Given the description of an element on the screen output the (x, y) to click on. 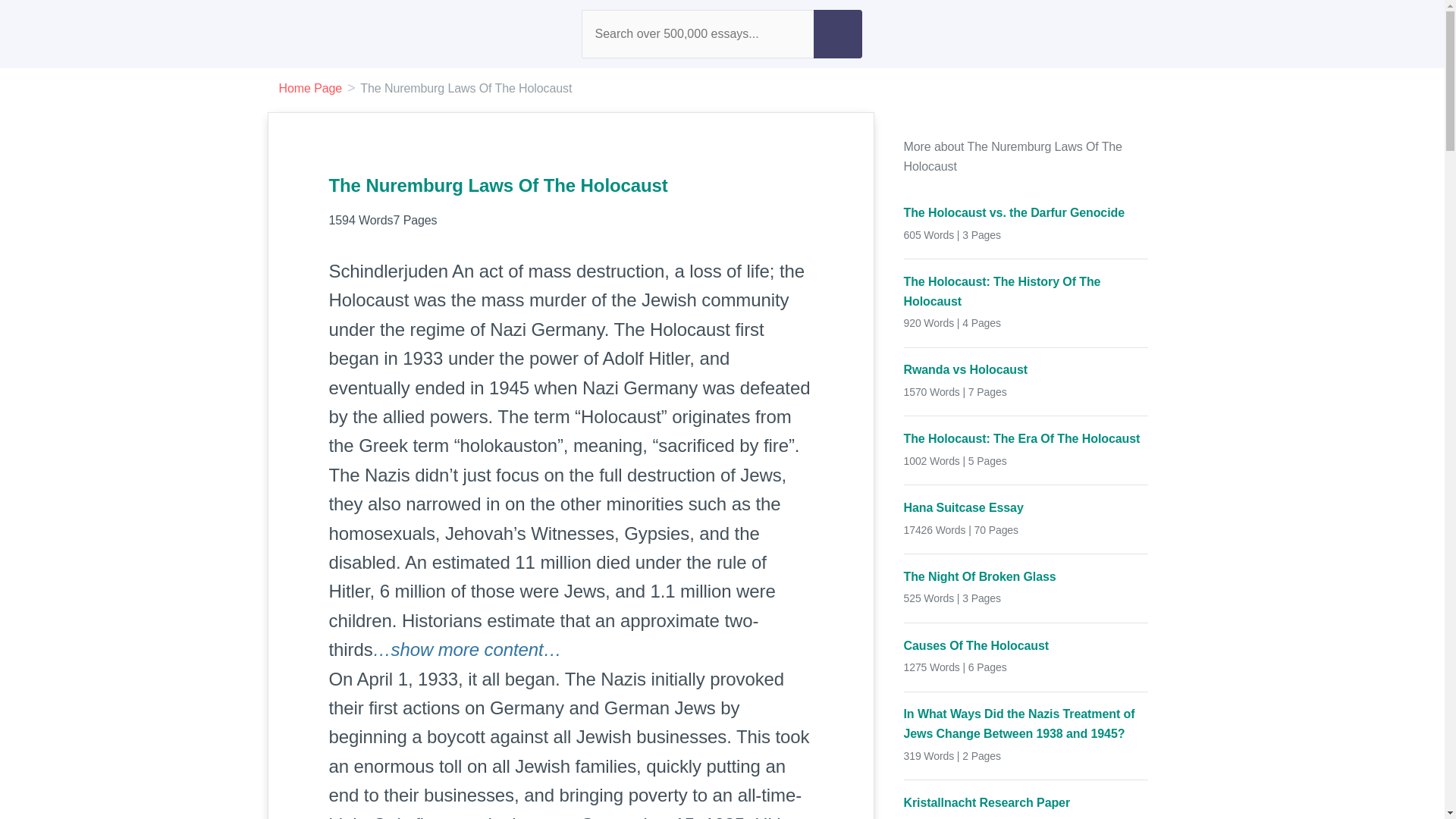
Causes Of The Holocaust (1026, 646)
The Holocaust: The Era Of The Holocaust (1026, 438)
Rwanda vs Holocaust (1026, 370)
The Night Of Broken Glass (1026, 577)
Home Page (310, 88)
Kristallnacht Research Paper (1026, 803)
The Holocaust vs. the Darfur Genocide (1026, 212)
Hana Suitcase Essay (1026, 507)
The Holocaust: The History Of The Holocaust (1026, 291)
